Given the description of an element on the screen output the (x, y) to click on. 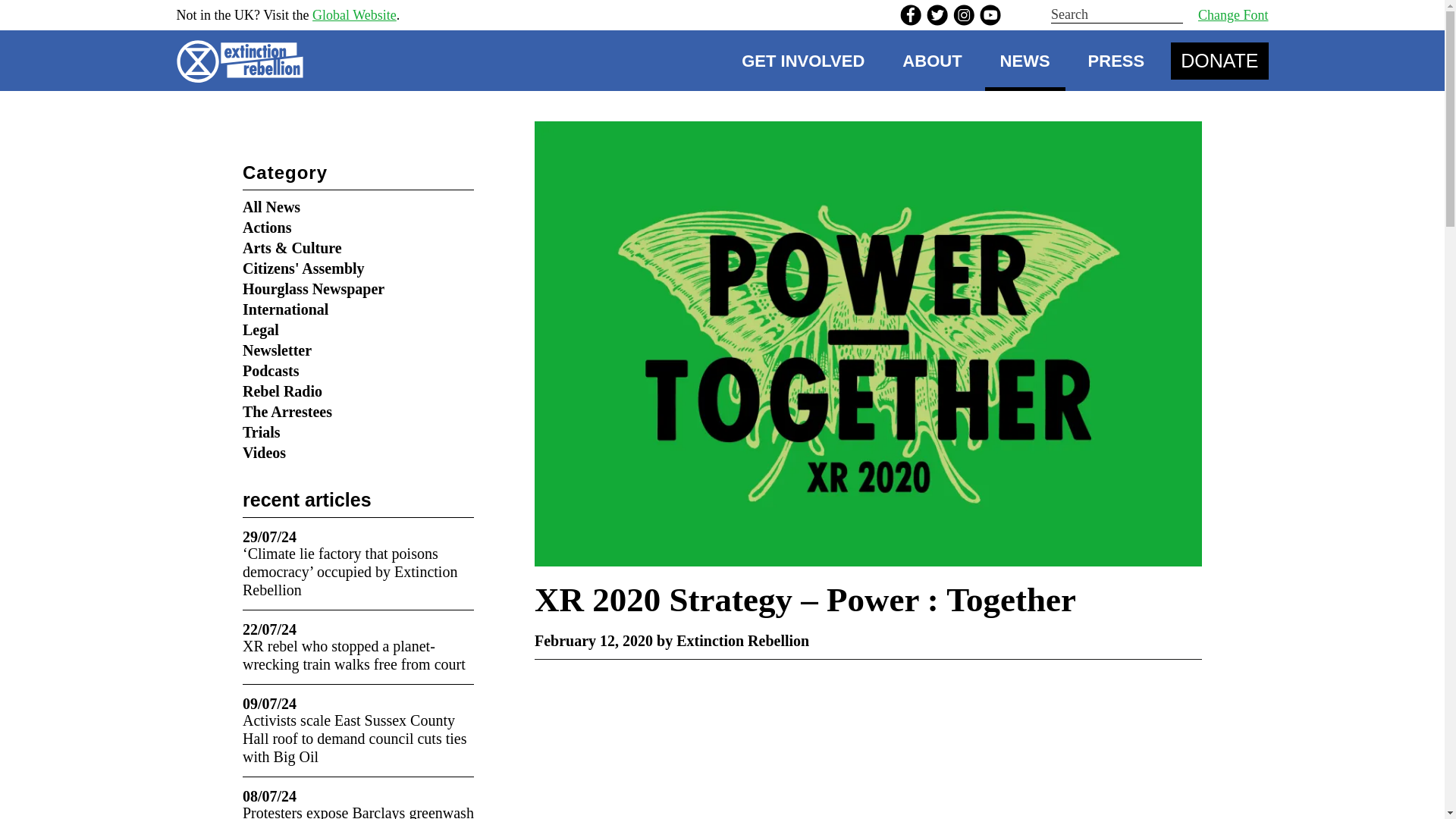
Extinction Rebellion logo (244, 61)
Global Website (354, 14)
